Given the description of an element on the screen output the (x, y) to click on. 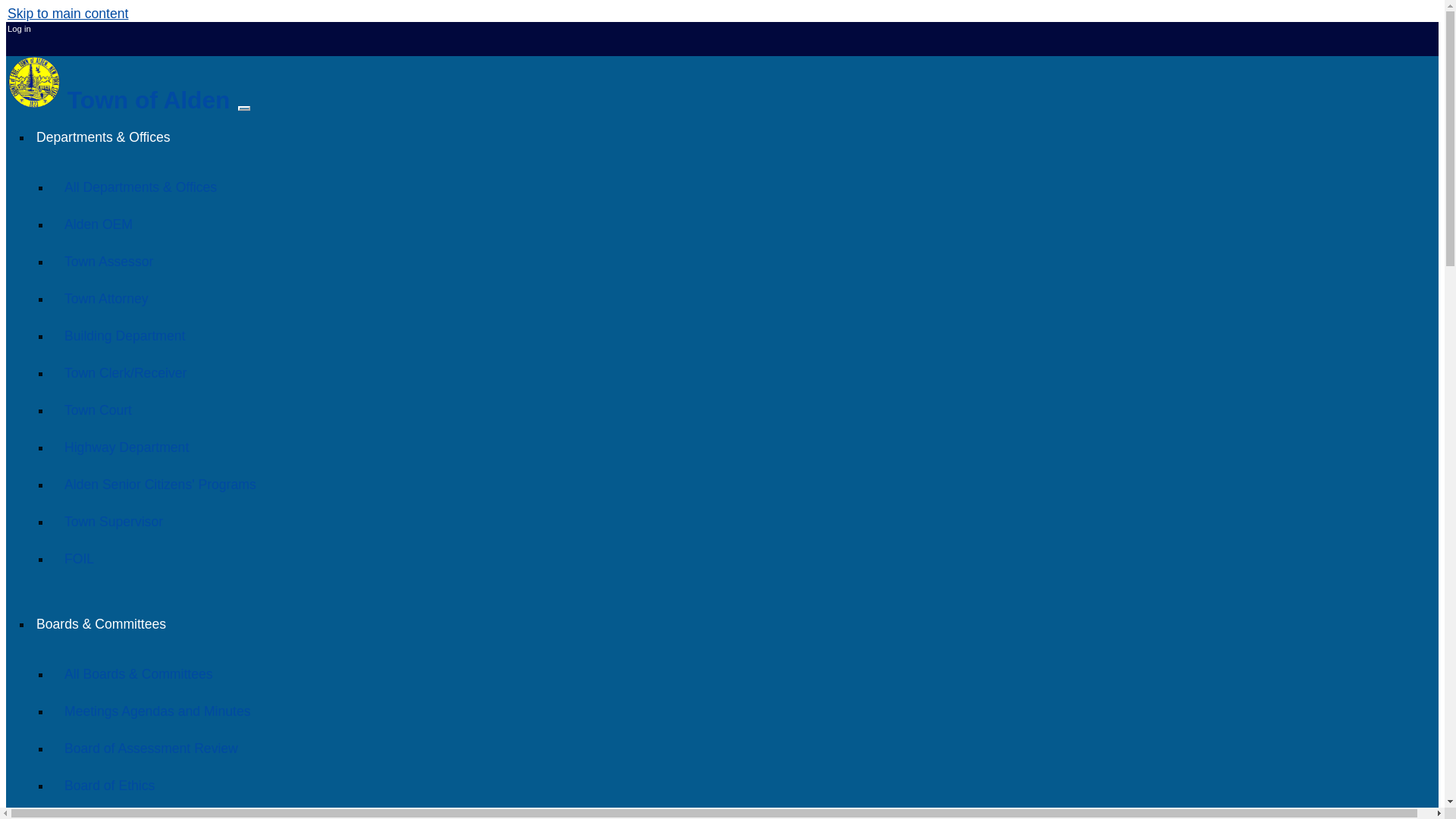
Town Attorney (105, 298)
Home (121, 100)
Alden Senior Citizens' Programs (159, 484)
Building Department (124, 335)
Town Court (97, 410)
Board of Assessment Review (151, 748)
FOIL (79, 558)
Highway Department (126, 447)
Town of Alden (121, 100)
Town Assessor (108, 261)
Board of Ethics (108, 785)
Town Supervisor (113, 521)
Skip to main content (67, 13)
Planning Board (109, 816)
Meetings Agendas and Minutes (156, 710)
